Given the description of an element on the screen output the (x, y) to click on. 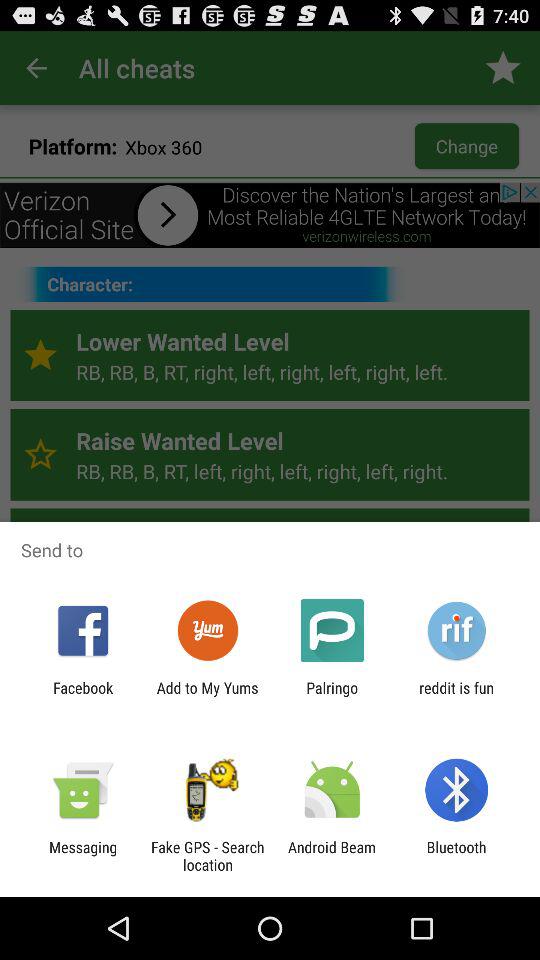
turn off item next to reddit is fun (332, 696)
